Given the description of an element on the screen output the (x, y) to click on. 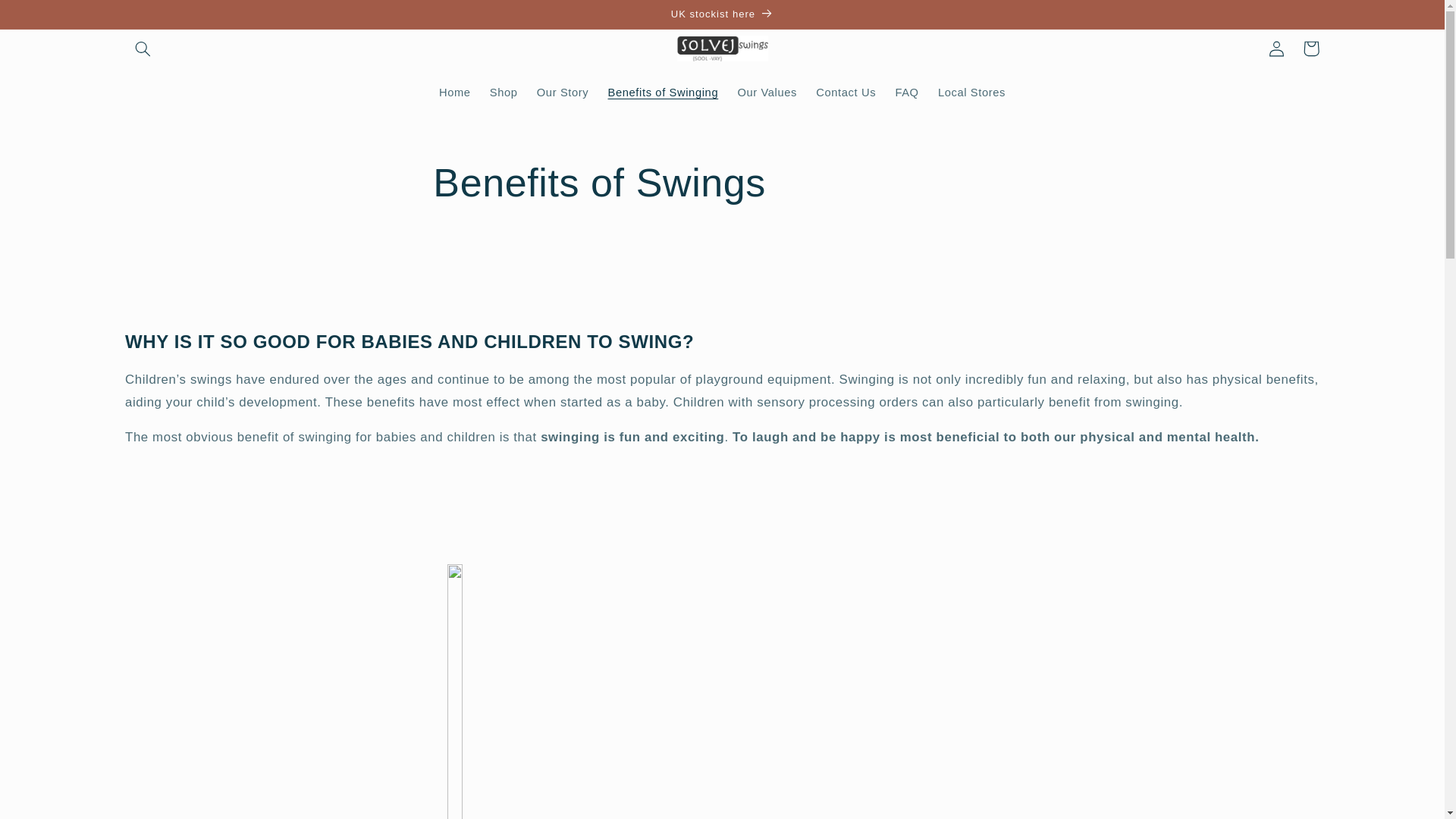
FAQ (906, 92)
Cart (1310, 48)
Benefits of Swinging (663, 92)
Log in (1276, 48)
Home (454, 92)
Shop (503, 92)
Our Story (562, 92)
Local Stores (971, 92)
Our Values (767, 92)
Skip to content (48, 18)
Contact Us (845, 92)
